Given the description of an element on the screen output the (x, y) to click on. 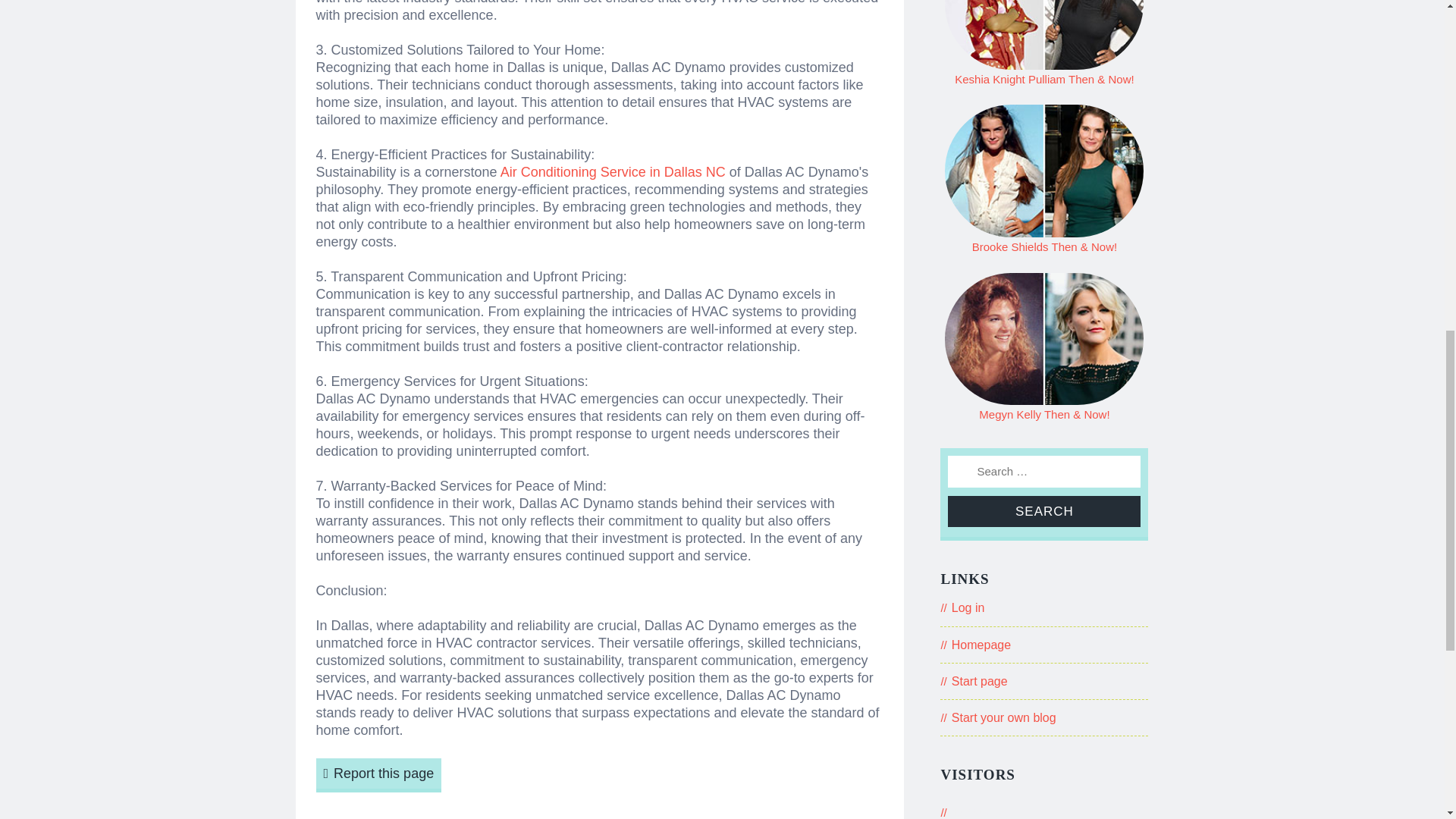
Search (1043, 511)
Report this page (378, 775)
Air Conditioning Service in Dallas NC (612, 171)
Start page (979, 680)
Log in (968, 607)
Homepage (981, 644)
Start your own blog (1004, 717)
Search (1043, 511)
Search (1043, 511)
